Given the description of an element on the screen output the (x, y) to click on. 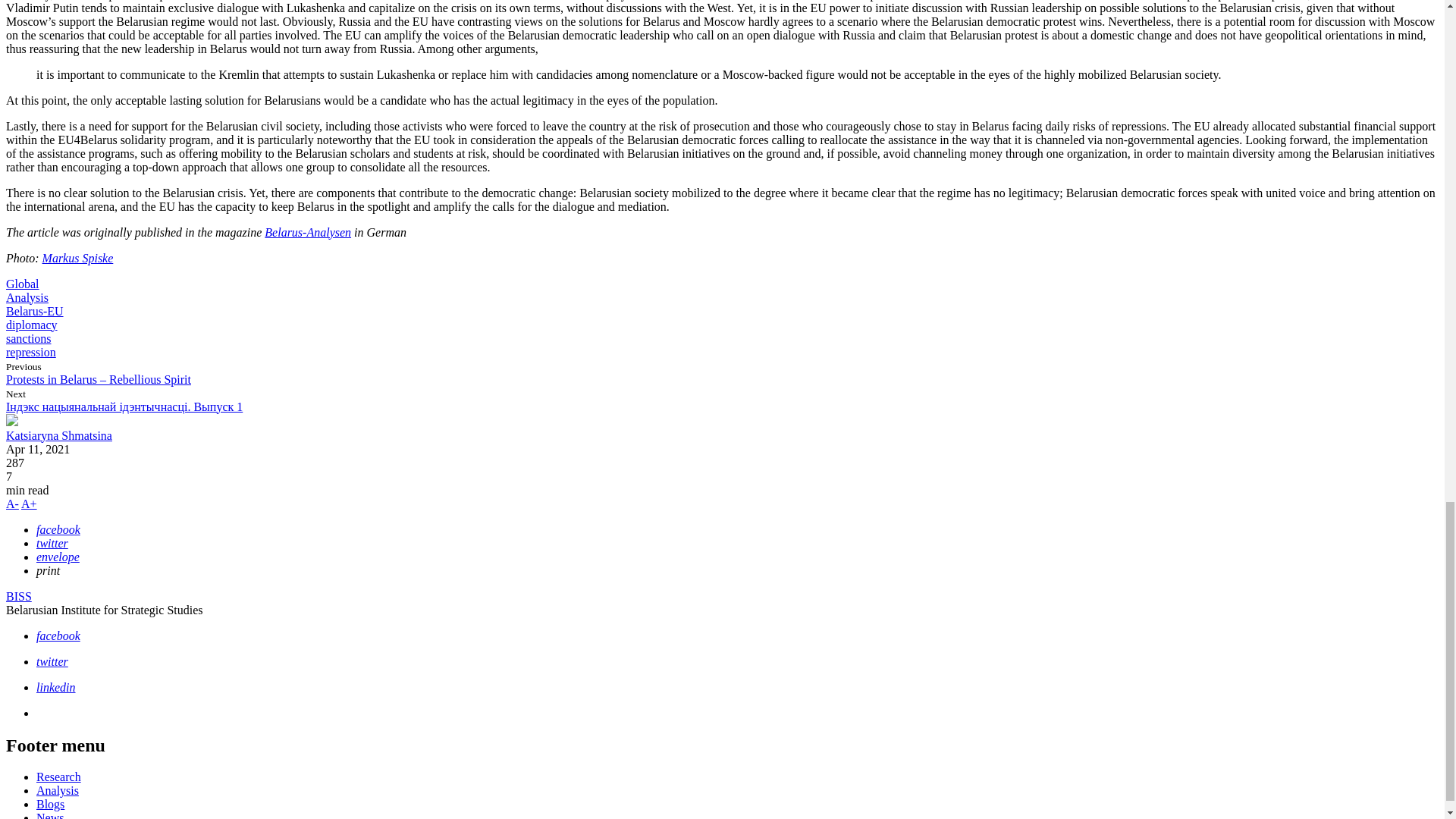
BISS (18, 595)
